Given the description of an element on the screen output the (x, y) to click on. 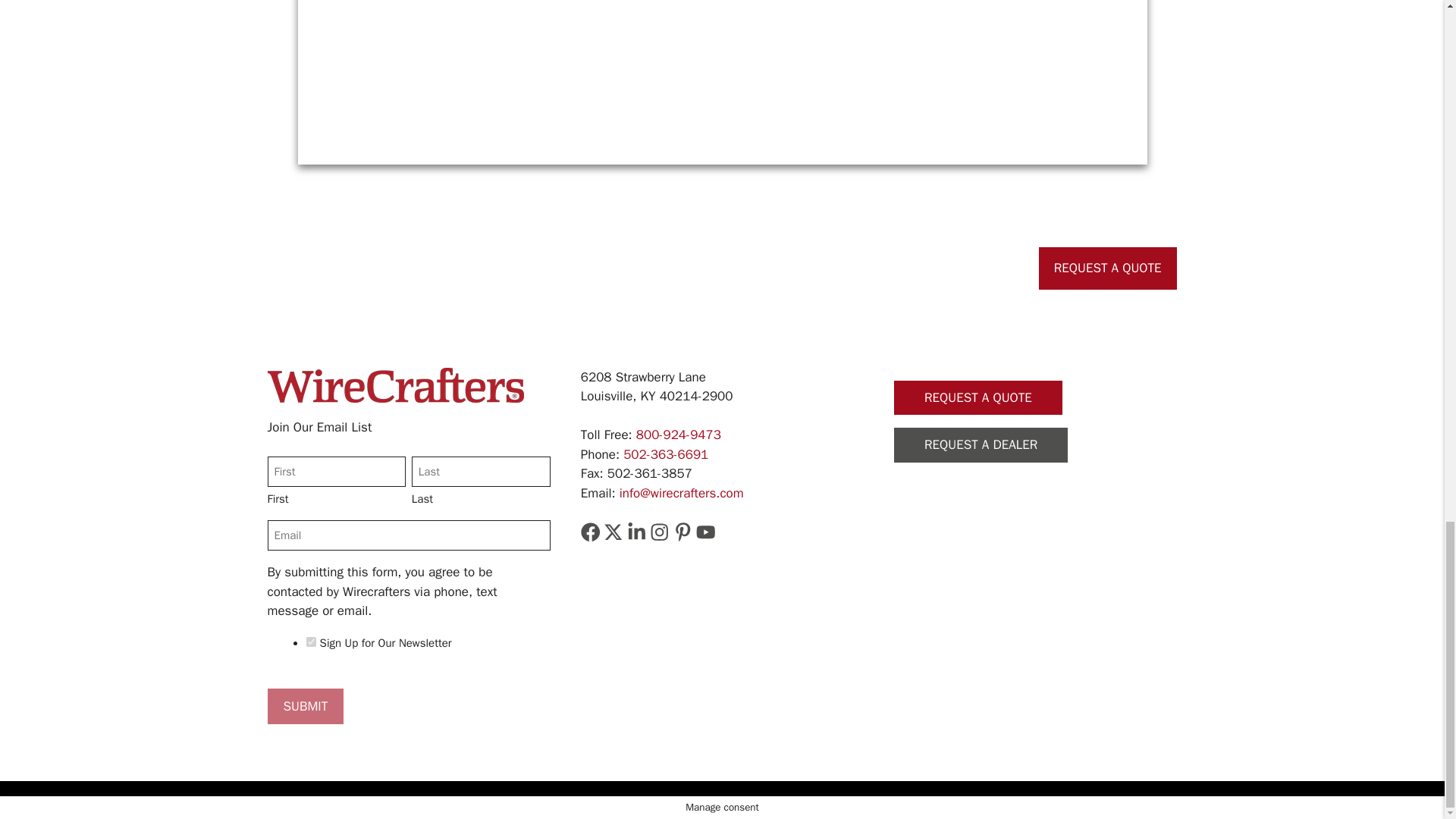
Submit (304, 706)
wirecrafters-logo (394, 384)
1 (310, 642)
Scroll back to top (1406, 76)
